Given the description of an element on the screen output the (x, y) to click on. 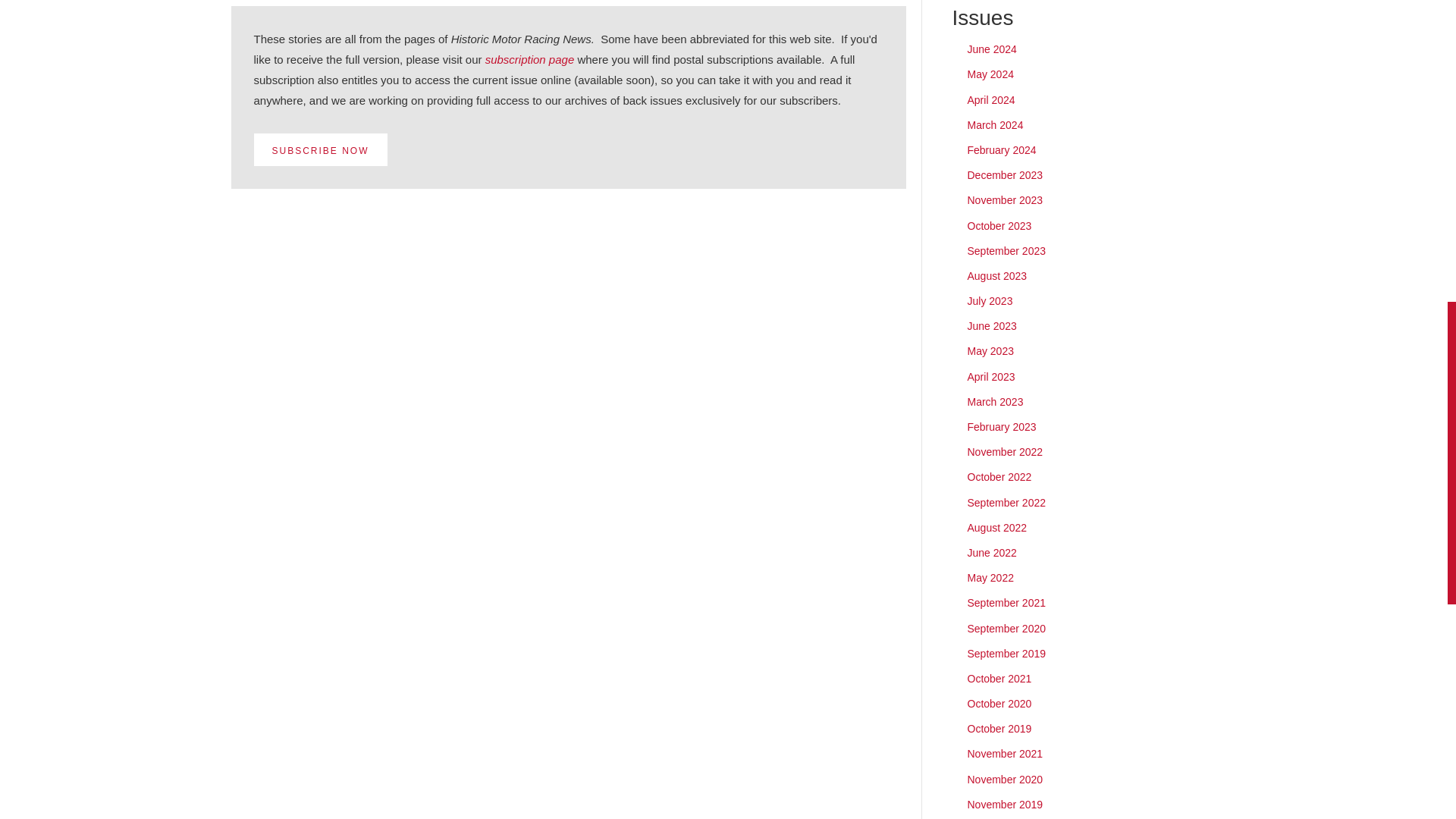
May 2024 (990, 73)
December 2023 (1005, 174)
March 2024 (995, 124)
February 2024 (1002, 150)
SUBSCRIBE NOW (320, 149)
November 2023 (1005, 200)
subscription page (529, 59)
April 2024 (991, 100)
June 2024 (992, 49)
